Given the description of an element on the screen output the (x, y) to click on. 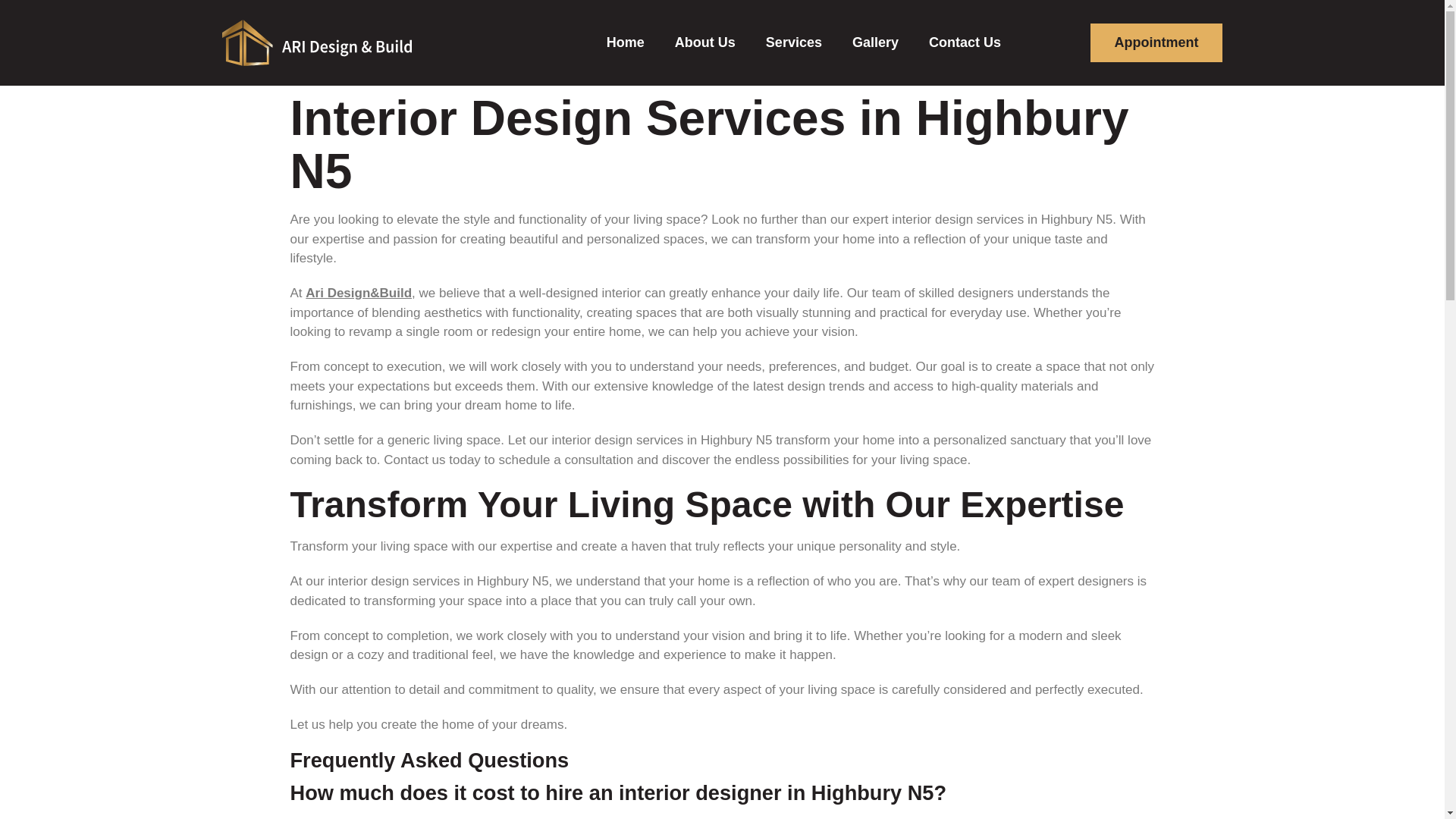
About Us (705, 42)
Services (793, 42)
Gallery (874, 42)
Home (626, 42)
Appointment (1156, 42)
Contact Us (964, 42)
